Given the description of an element on the screen output the (x, y) to click on. 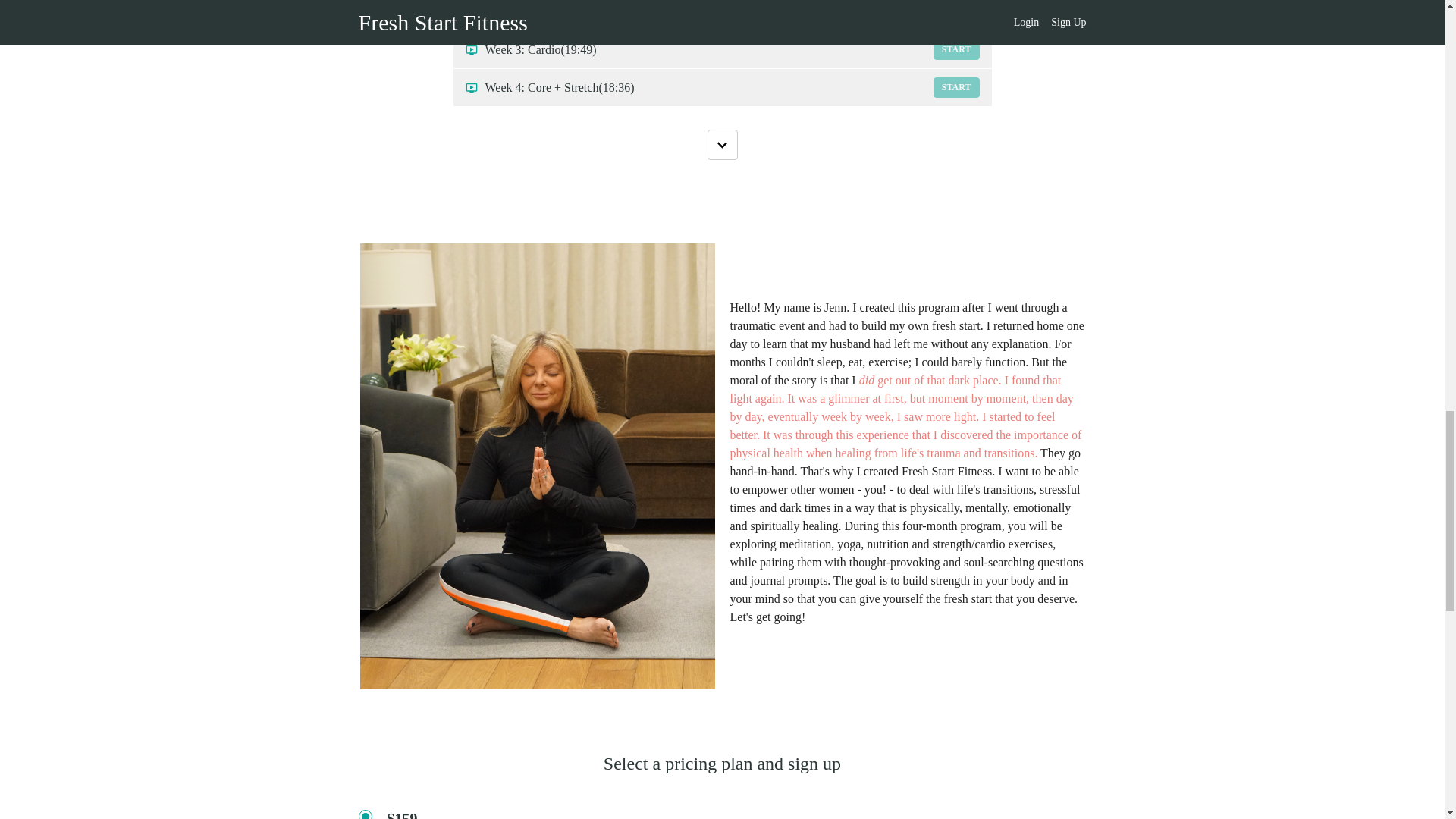
START (956, 49)
START (956, 11)
